Given the description of an element on the screen output the (x, y) to click on. 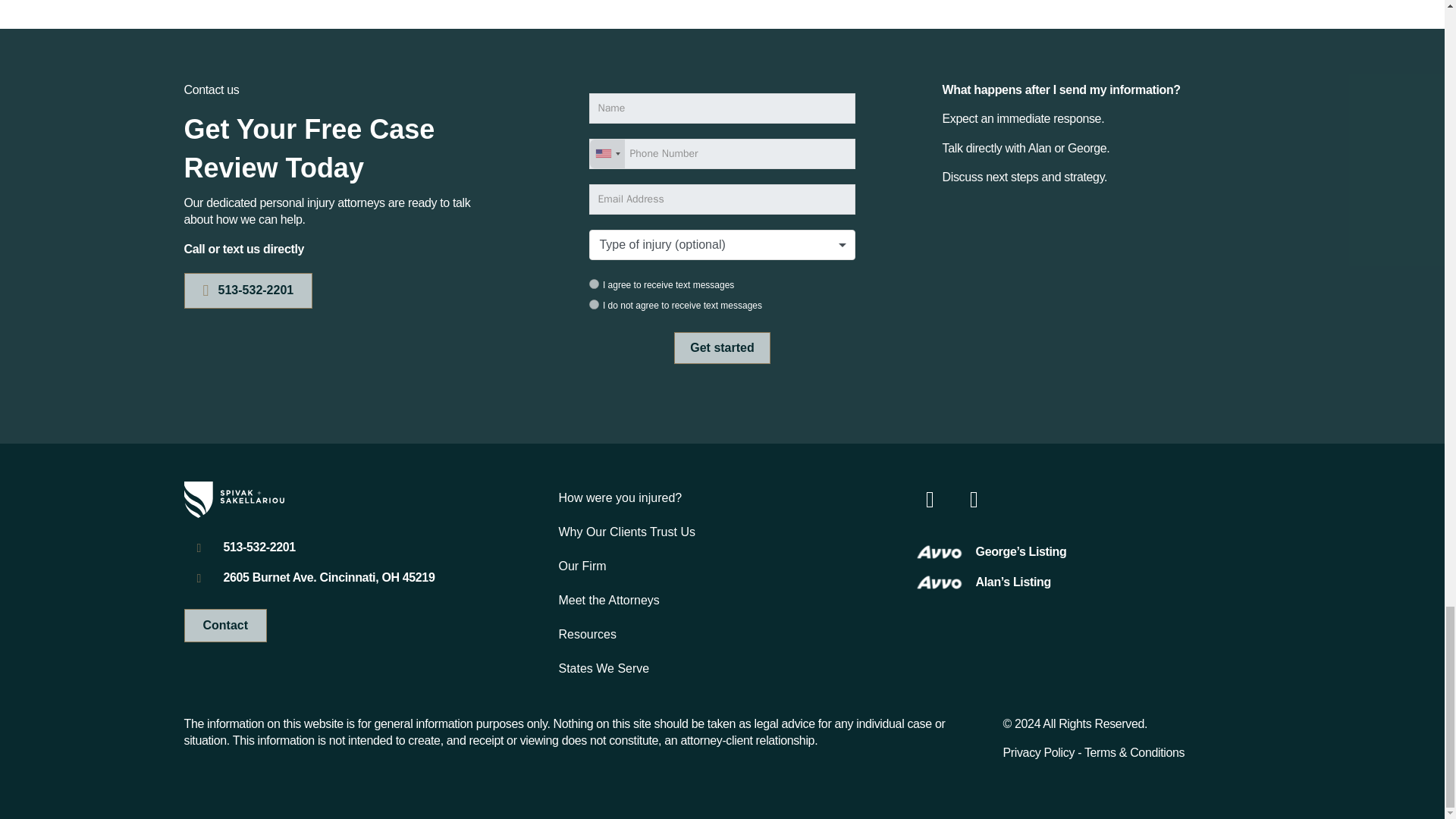
I do not agree to receive text messages (593, 304)
Facebook (930, 499)
I agree to receive text messages (593, 284)
gsas-logo-white (233, 499)
